Given the description of an element on the screen output the (x, y) to click on. 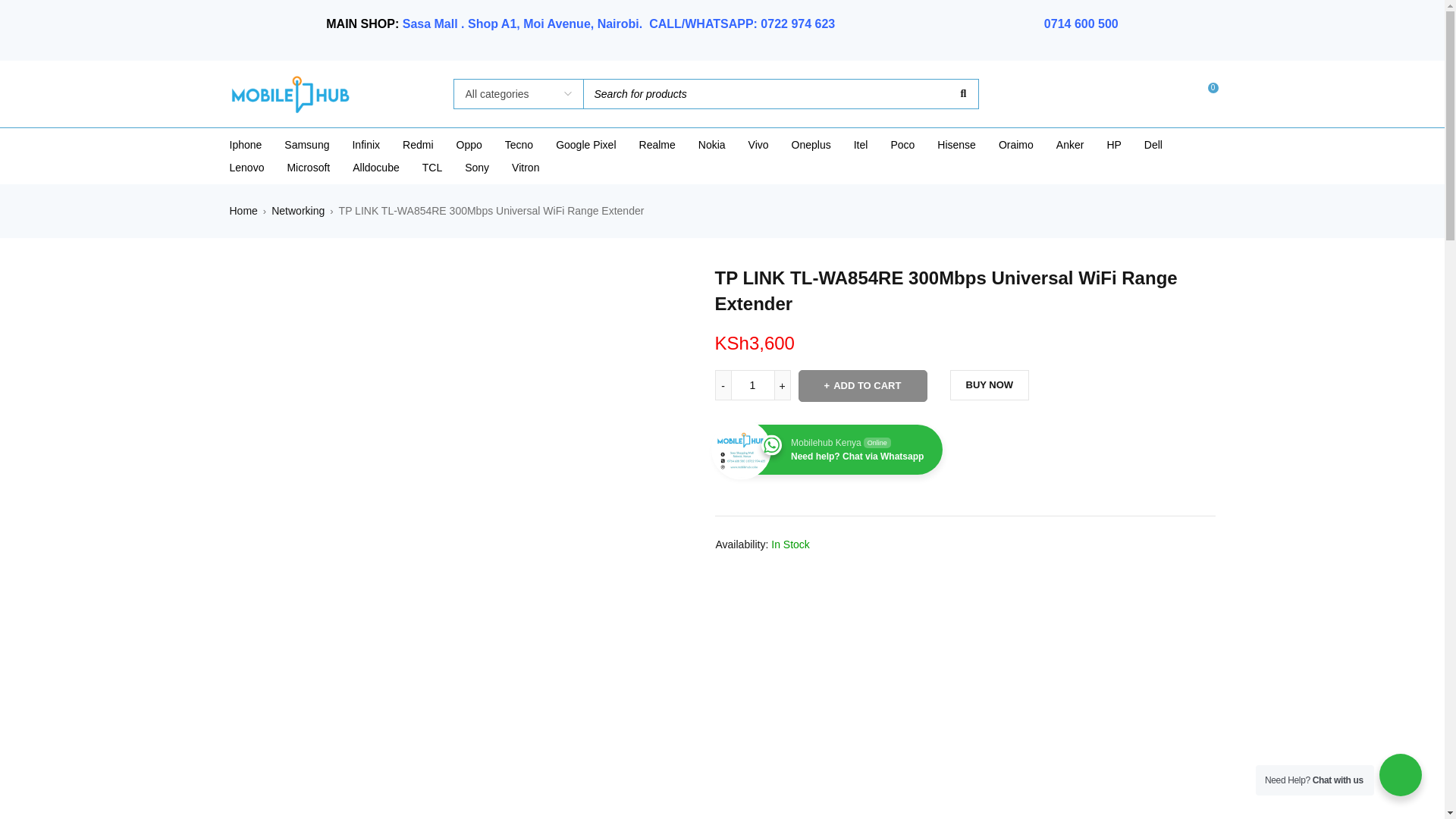
Tecno (518, 144)
Search (962, 93)
Infinix (366, 144)
Google Pixel (585, 144)
Search (962, 93)
1 (752, 385)
Search (962, 93)
Oppo (469, 144)
Redmi (417, 144)
GoStore (289, 93)
